Given the description of an element on the screen output the (x, y) to click on. 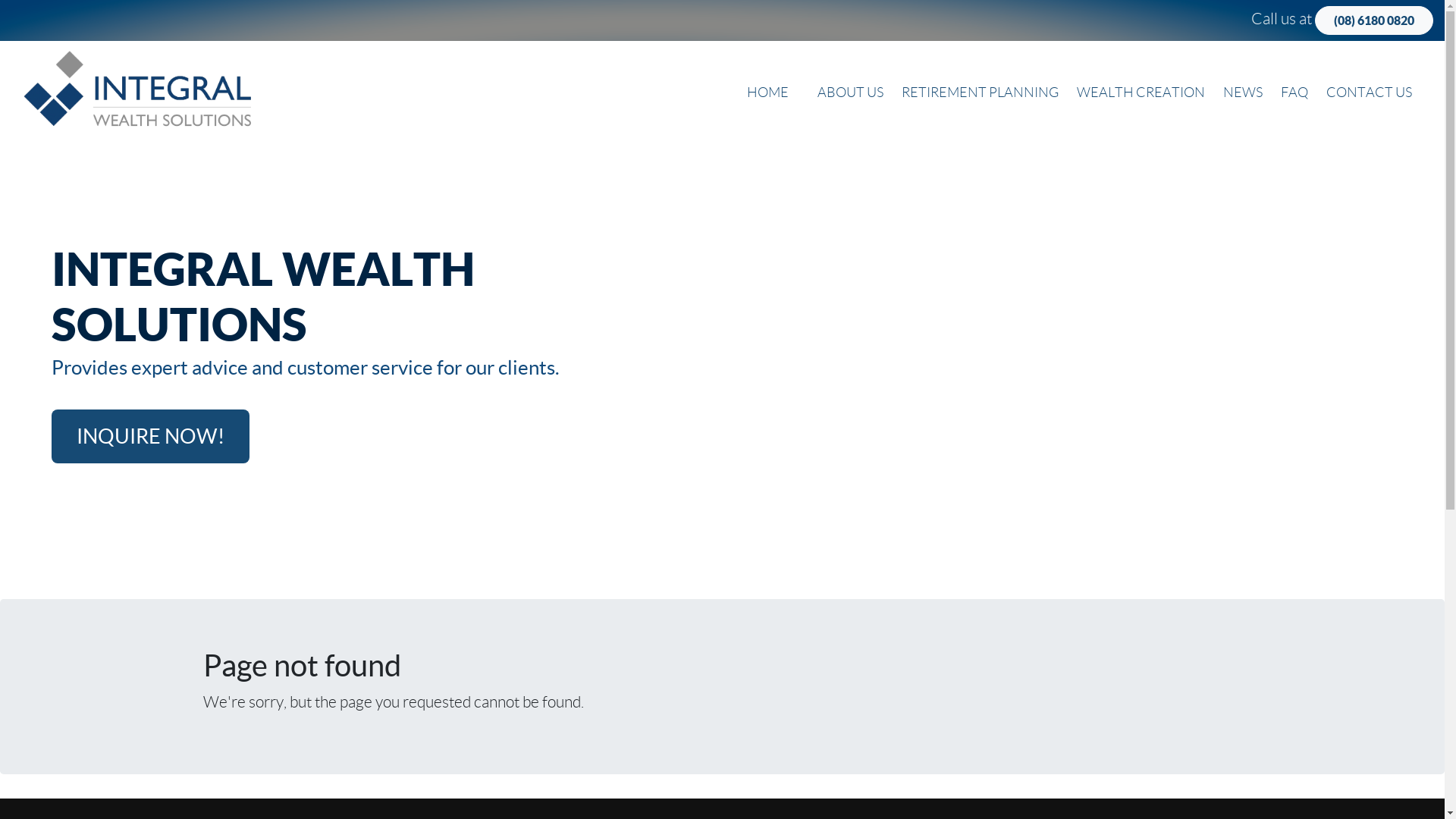
(08) 6180 0820 Element type: text (1373, 20)
RETIREMENT PLANNING Element type: text (980, 92)
HOME Element type: text (767, 92)
ABOUT US Element type: text (850, 92)
INQUIRE NOW! Element type: text (150, 436)
CONTACT US Element type: text (1368, 92)
NEWS Element type: text (1242, 92)
WEALTH CREATION Element type: text (1140, 92)
FAQ Element type: text (1294, 92)
